Given the description of an element on the screen output the (x, y) to click on. 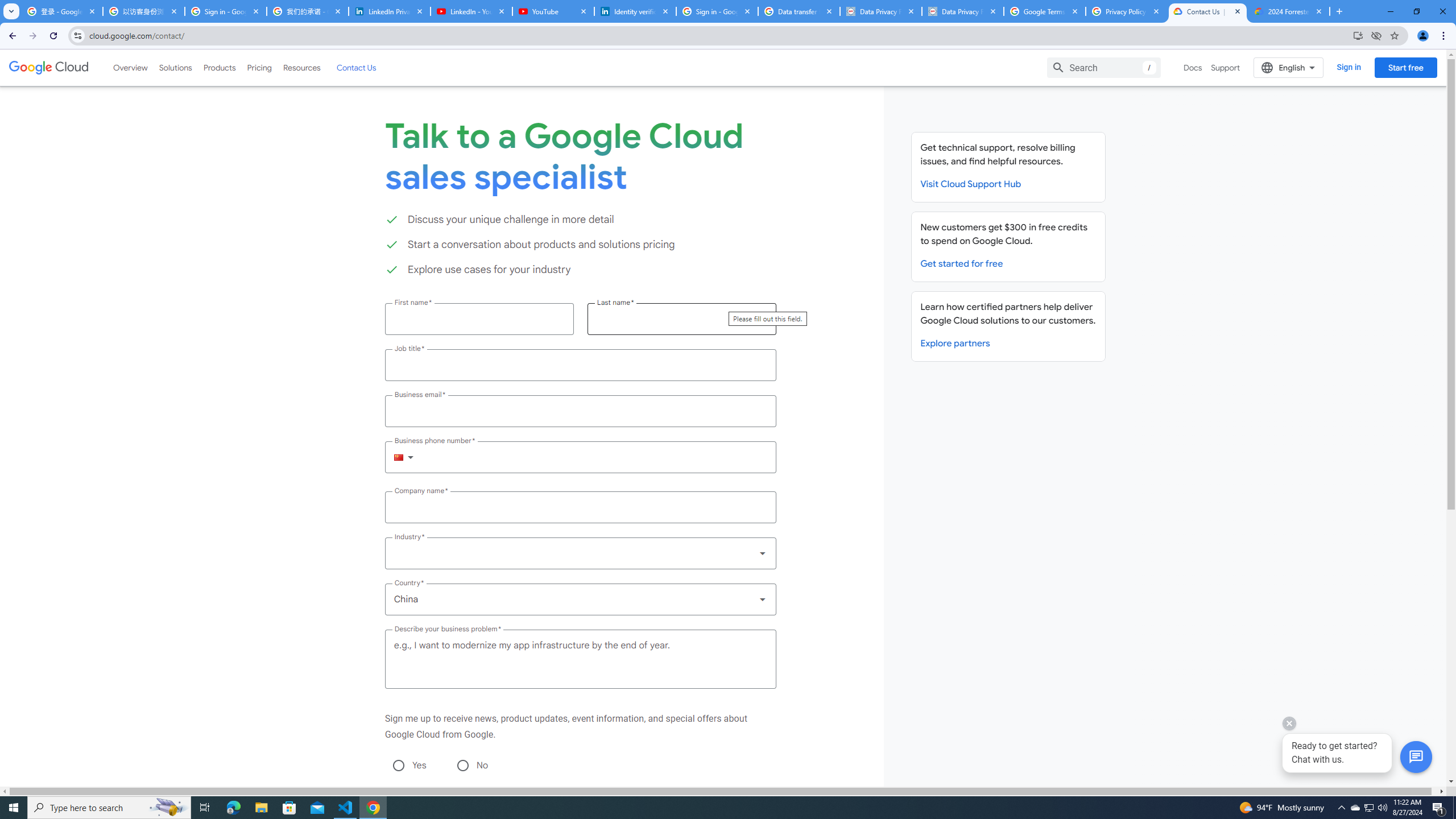
Yes (398, 764)
Country * (580, 599)
Products (218, 67)
Job title * (580, 364)
Business email * (580, 411)
No (462, 764)
